Given the description of an element on the screen output the (x, y) to click on. 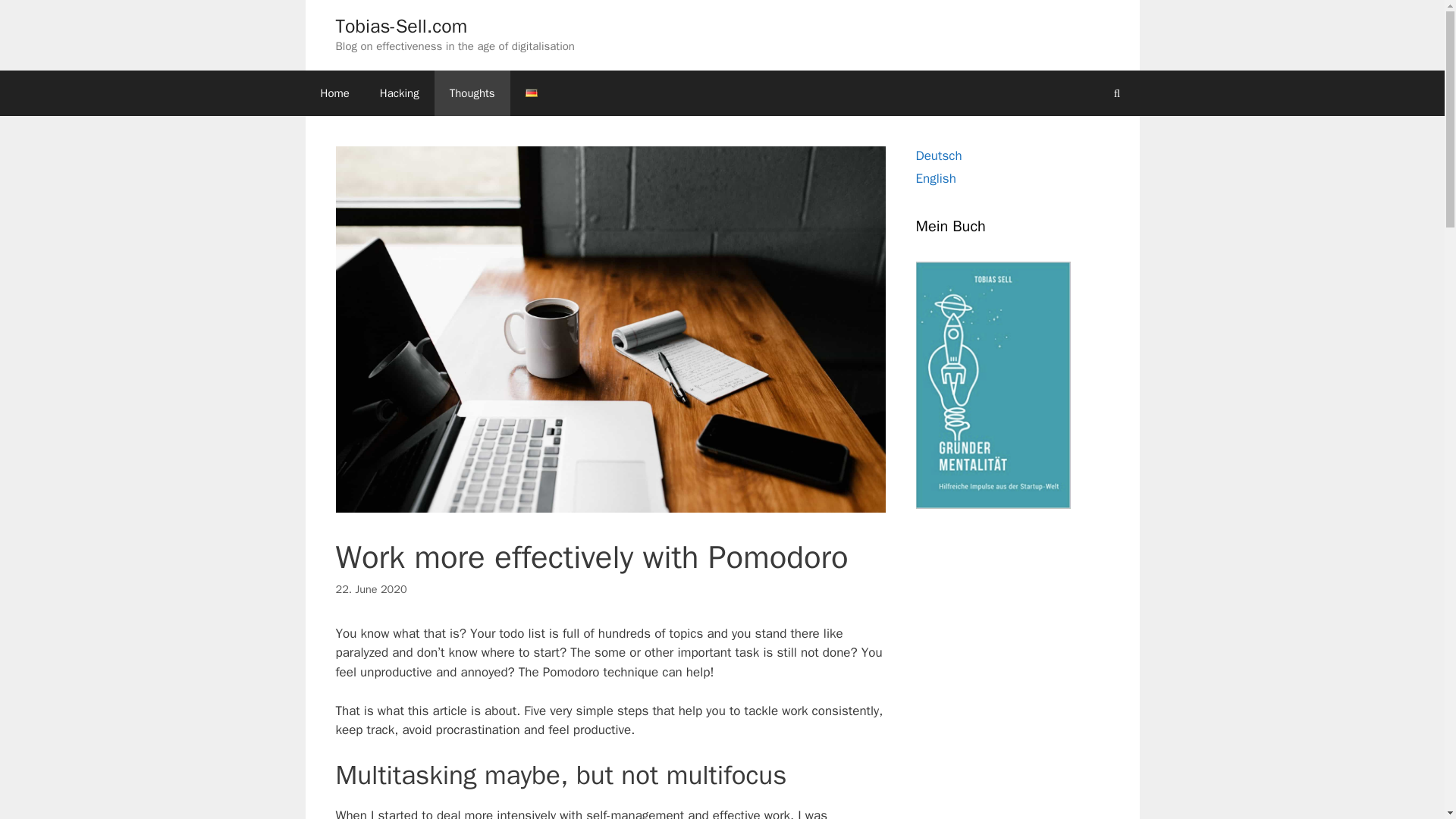
Thoughts (472, 92)
Home (334, 92)
Deutsch (938, 154)
Tobias-Sell.com (400, 25)
English (935, 178)
Hacking (399, 92)
